Given the description of an element on the screen output the (x, y) to click on. 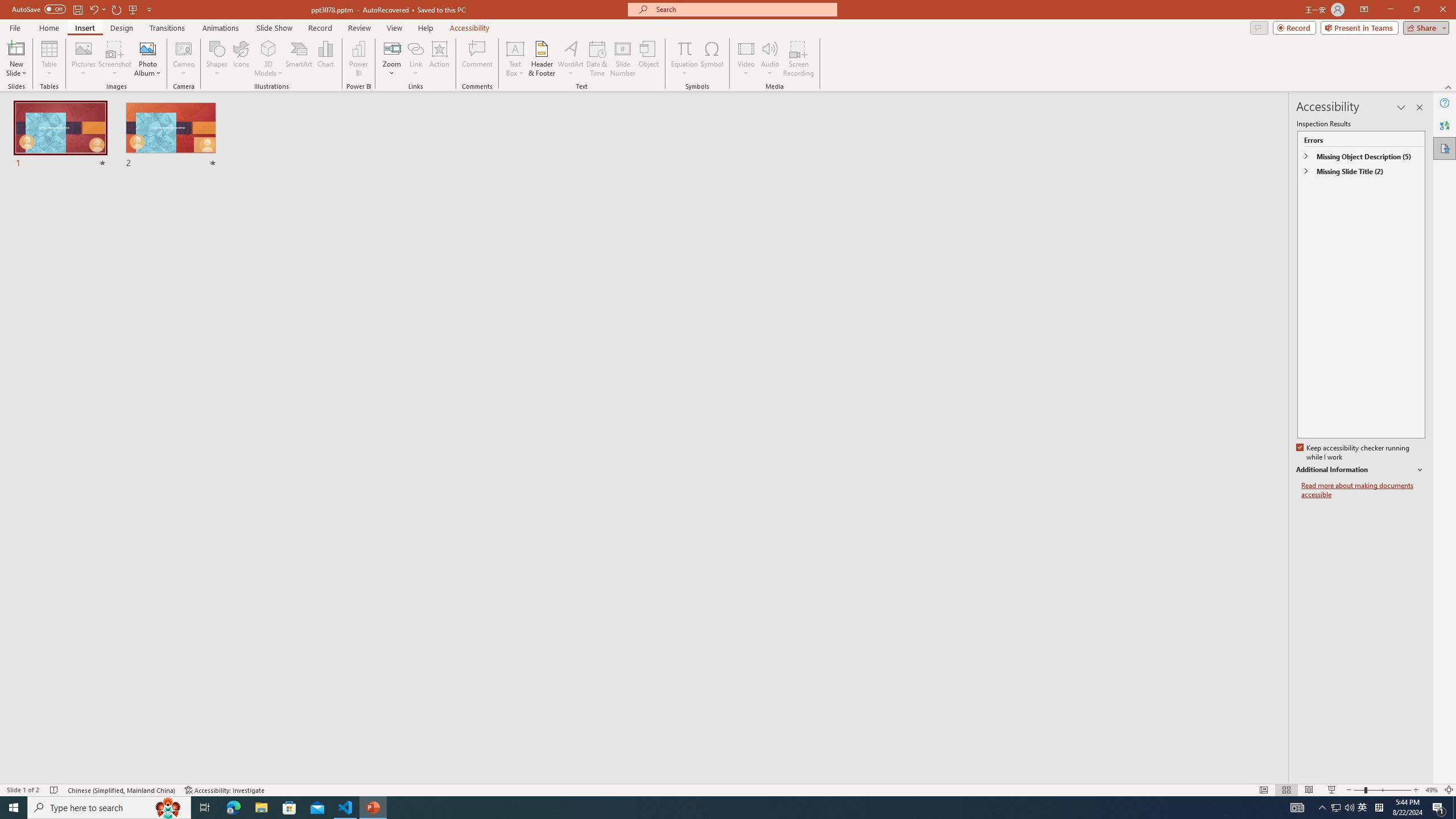
Zoom 49% (1431, 790)
Audio (769, 58)
Screenshot (114, 58)
SmartArt... (298, 58)
Slide Number (622, 58)
